Given the description of an element on the screen output the (x, y) to click on. 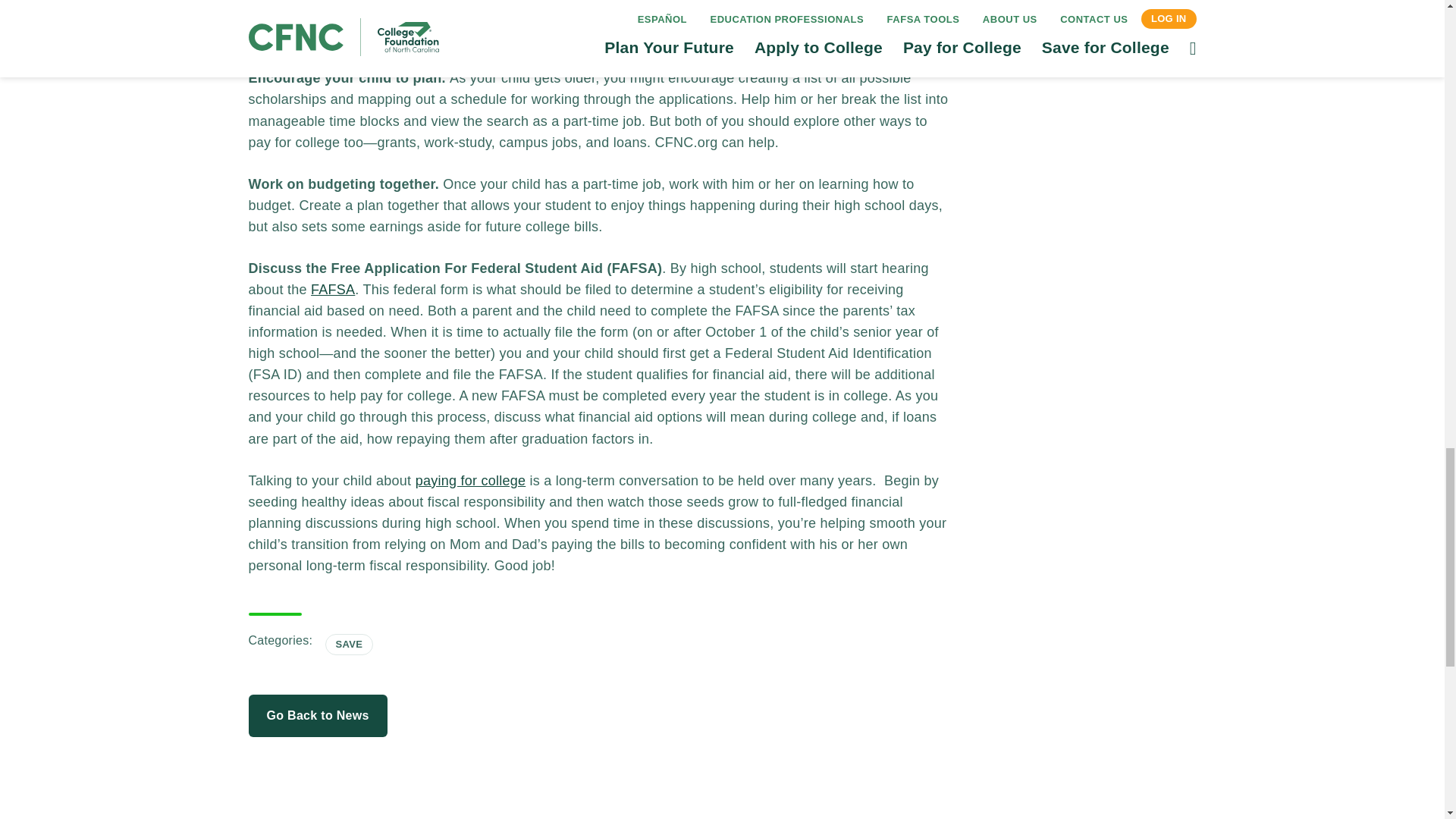
paying for college (469, 480)
FAFSA.gov (333, 289)
